Given the description of an element on the screen output the (x, y) to click on. 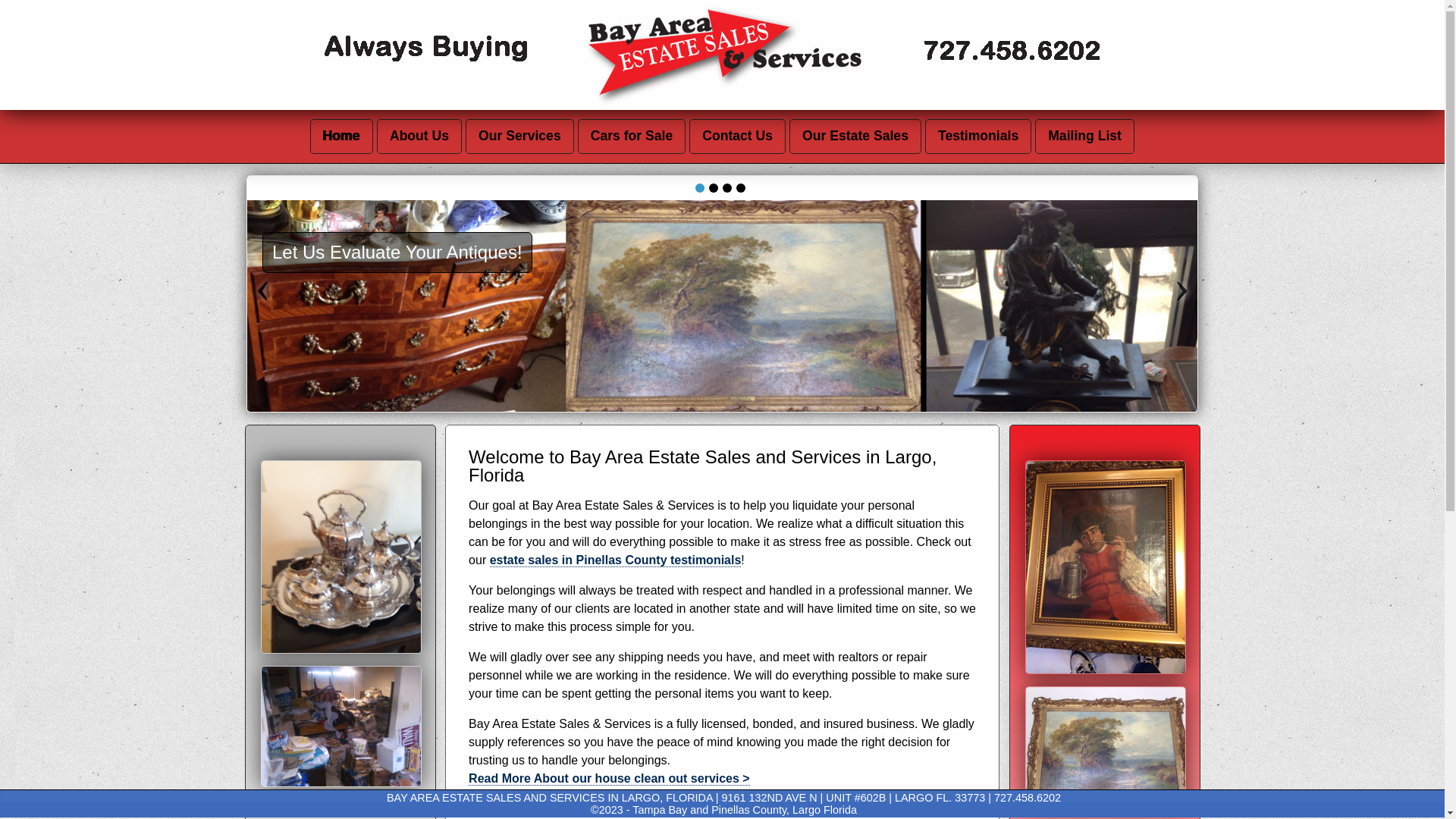
1 (739, 187)
About Us (419, 135)
Testimonials (977, 135)
1 (726, 187)
Mailing List (1084, 135)
1 (712, 187)
Home (341, 135)
estate sales in Pinellas County testimonials (615, 560)
Our Estate Sales (855, 135)
Our Services (519, 135)
1 (698, 187)
Contact Us (737, 135)
Cars for Sale (631, 135)
